Given the description of an element on the screen output the (x, y) to click on. 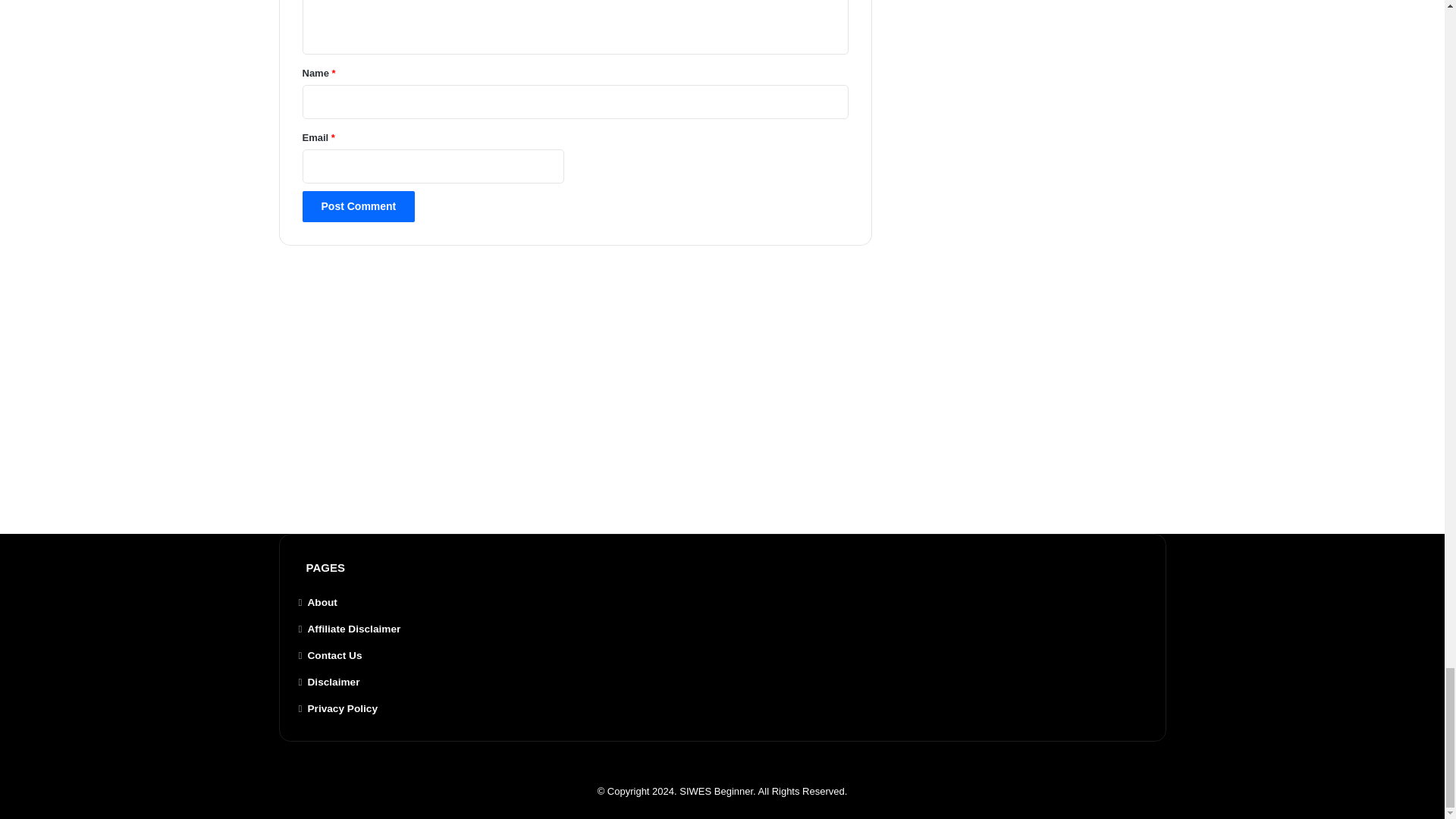
Post Comment (357, 205)
